Given the description of an element on the screen output the (x, y) to click on. 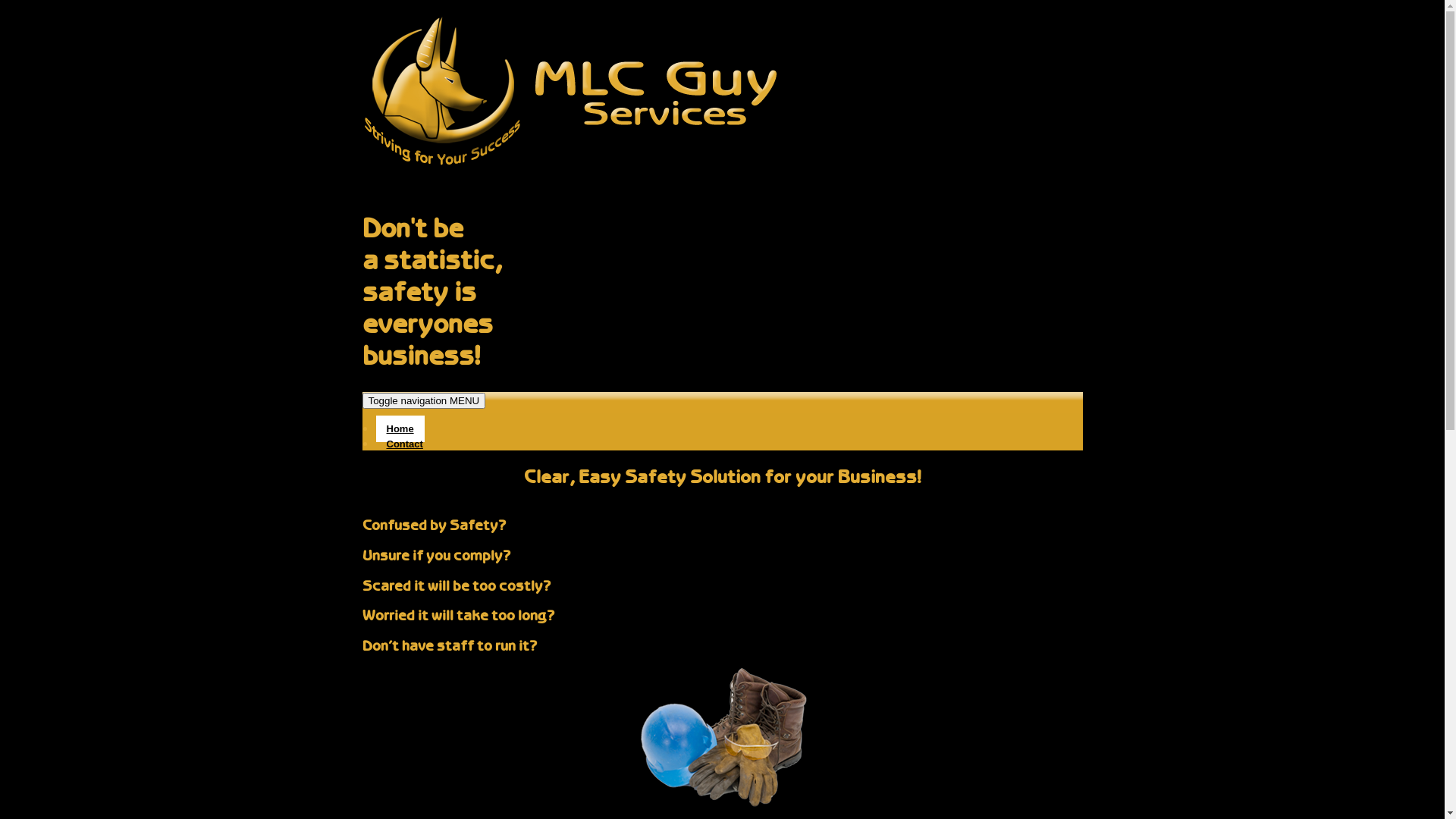
MLC Guy Services Element type: text (463, 220)
Home Element type: text (400, 428)
Contact Element type: text (404, 443)
MLC Guy Services Element type: hover (570, 183)
Toggle navigation MENU Element type: text (424, 400)
